Given the description of an element on the screen output the (x, y) to click on. 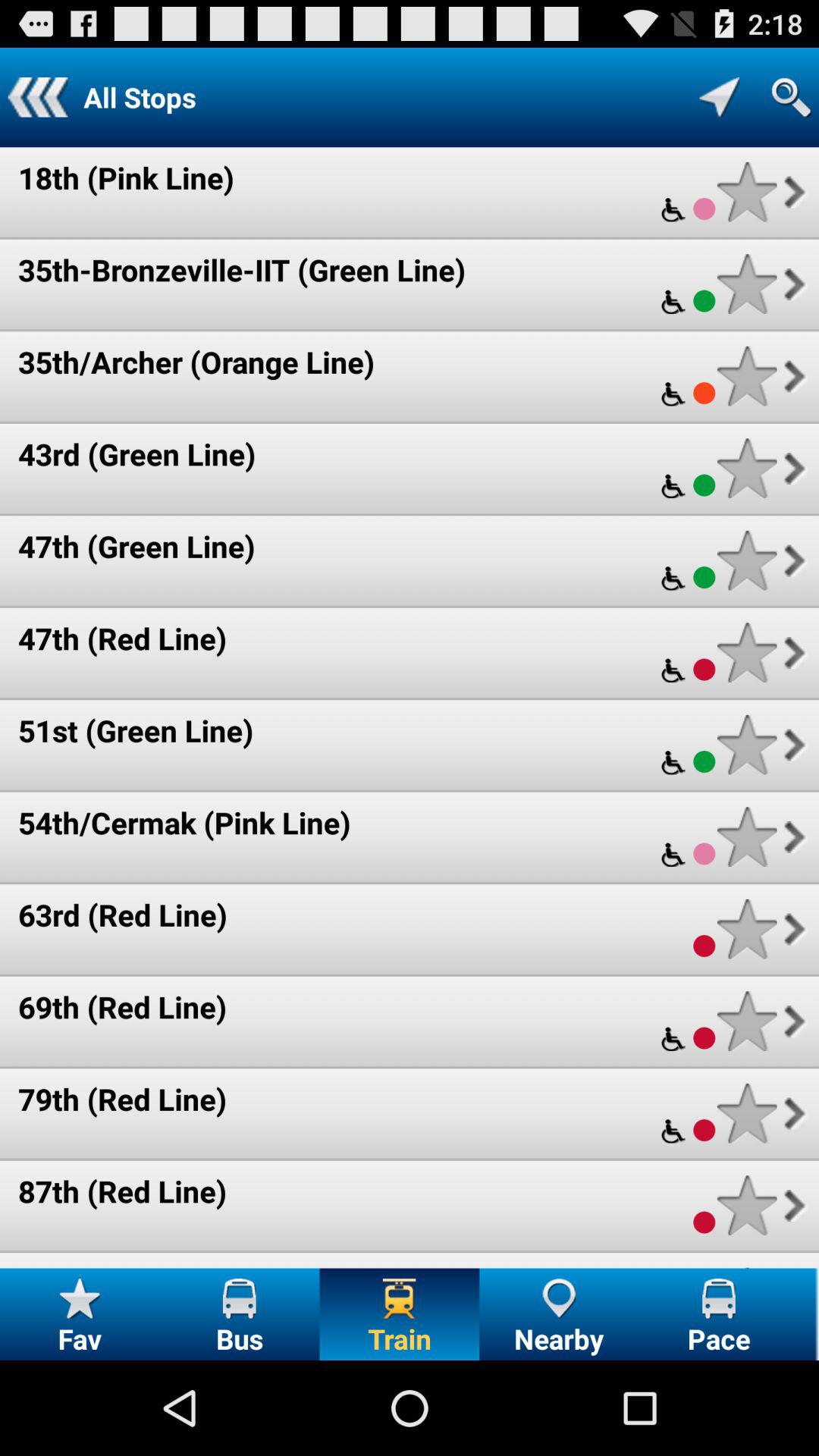
add to favorites (746, 928)
